Given the description of an element on the screen output the (x, y) to click on. 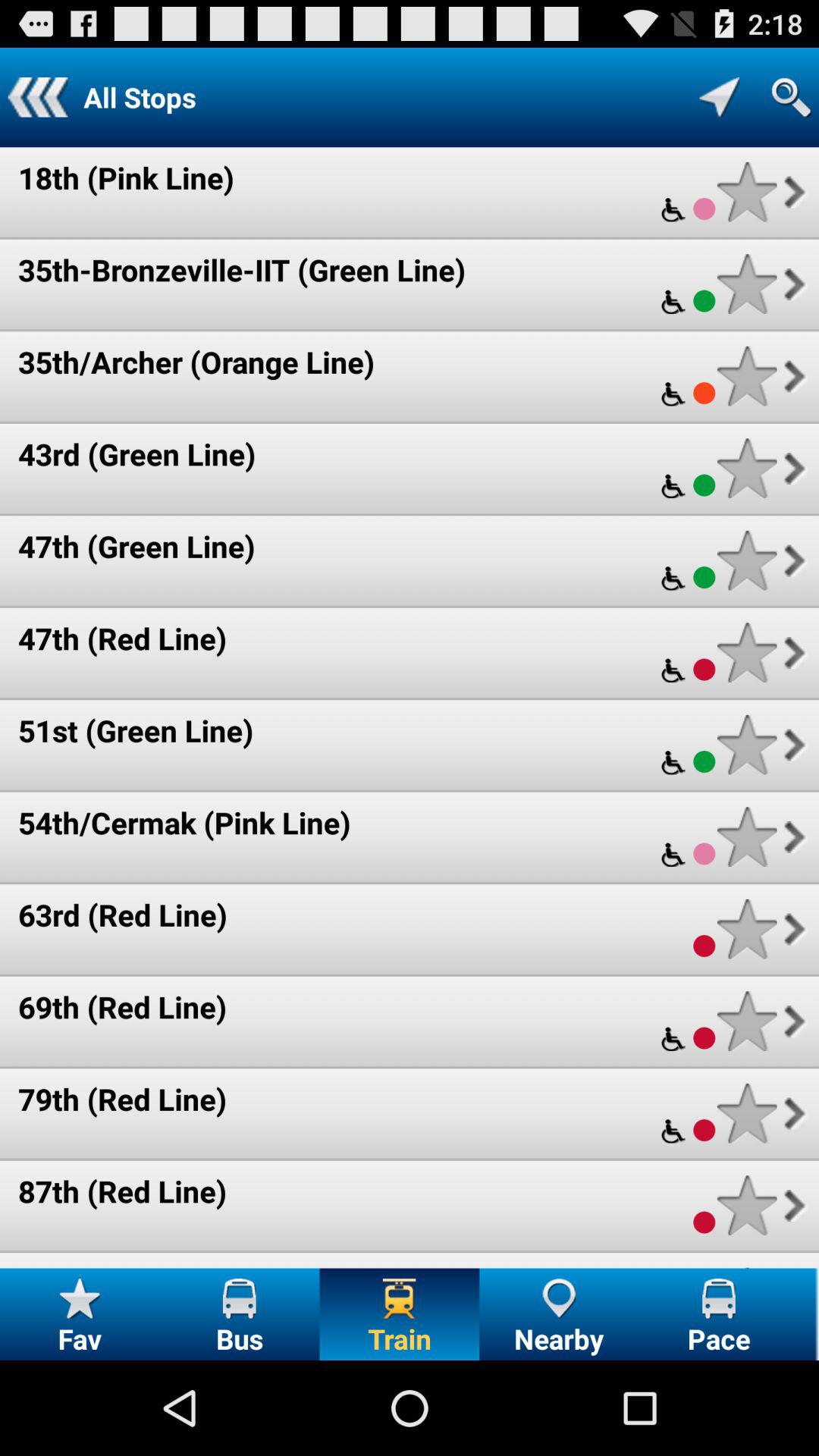
add to favorites (746, 928)
